Given the description of an element on the screen output the (x, y) to click on. 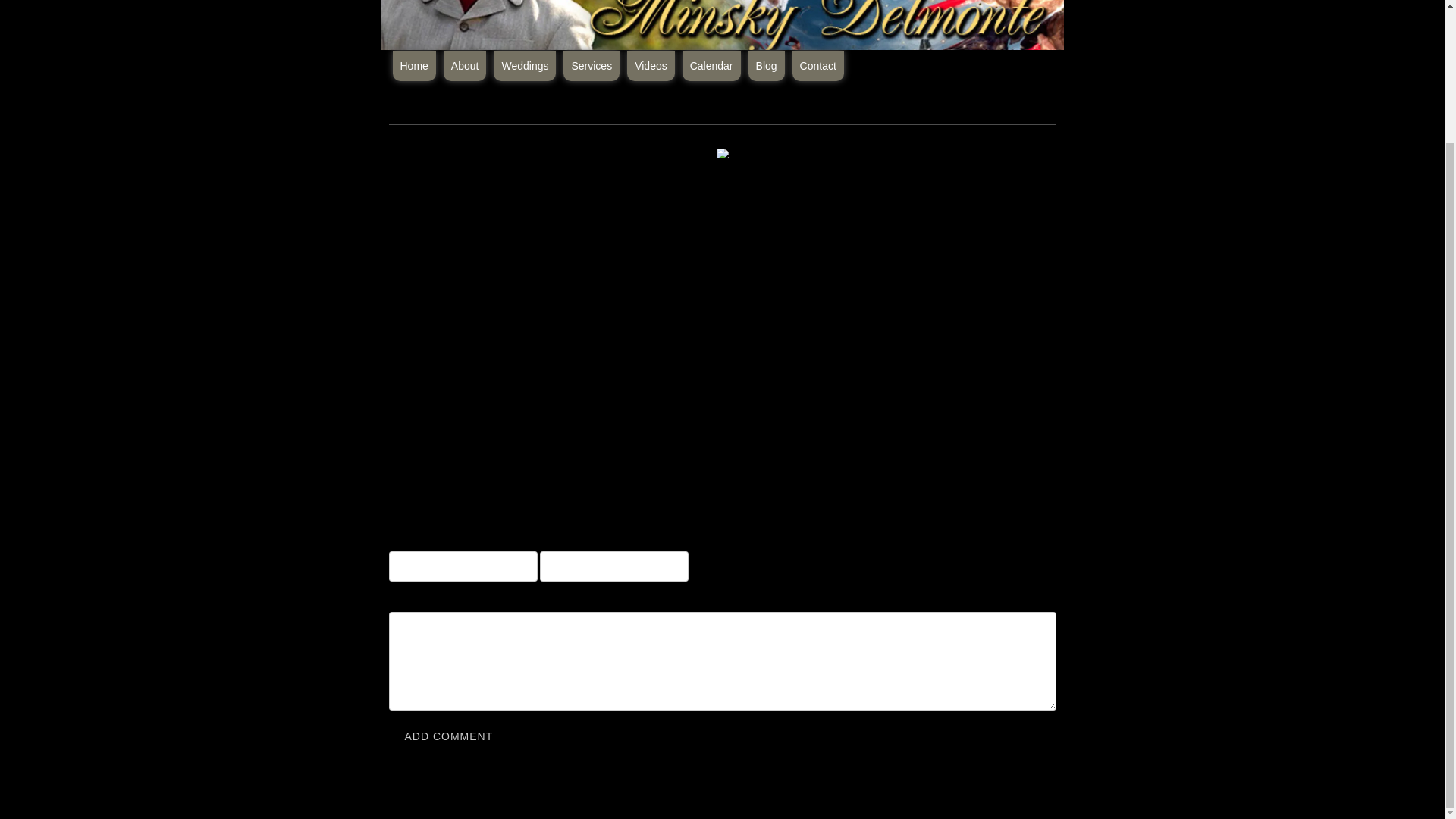
LOG IN (874, 508)
Calendar (711, 65)
Powered by Bandzoogle (722, 811)
Contact (818, 65)
Home (414, 65)
Weddings (524, 65)
Services (591, 65)
April 11, 2014 20:20 (405, 370)
ADD COMMENT (448, 736)
SHARE (549, 394)
LEAVE A COMMENT (452, 394)
Blog (766, 65)
Videos (651, 65)
About (465, 65)
